Given the description of an element on the screen output the (x, y) to click on. 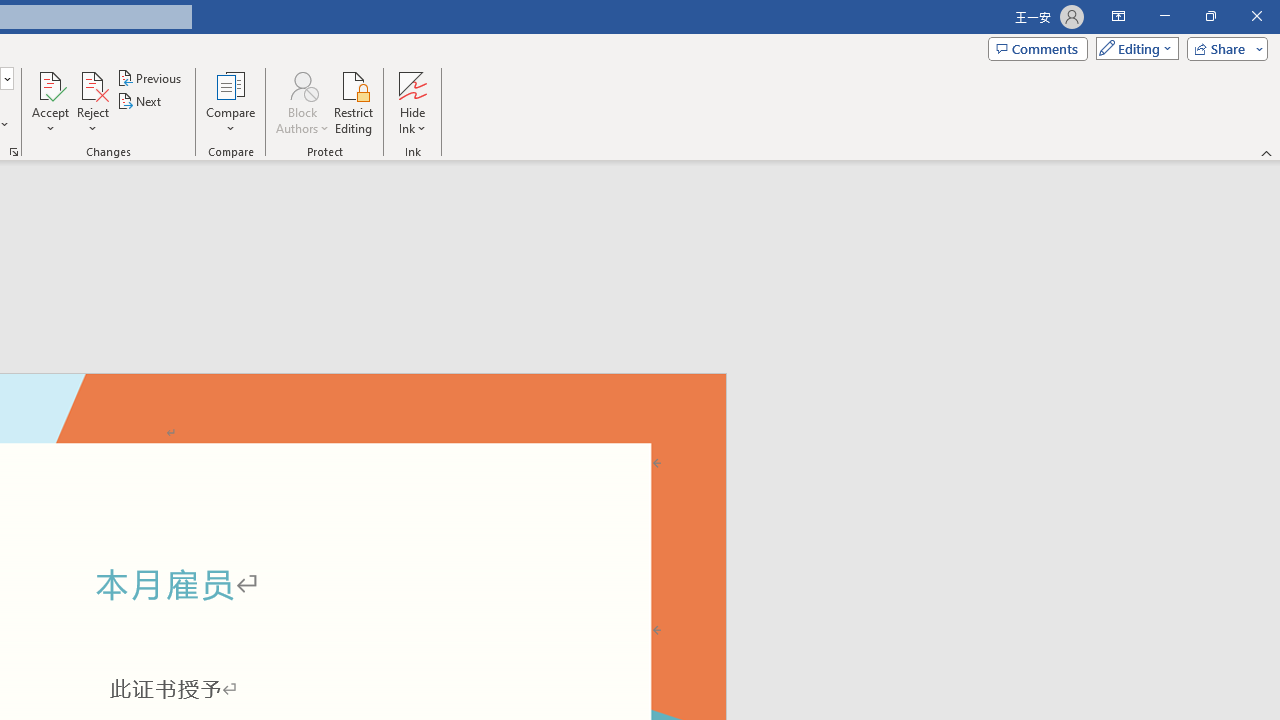
Change Tracking Options... (13, 151)
Block Authors (302, 84)
Next (140, 101)
Hide Ink (412, 84)
Reject (92, 102)
Accept (50, 102)
Block Authors (302, 102)
Hide Ink (412, 102)
Compare (230, 102)
